Given the description of an element on the screen output the (x, y) to click on. 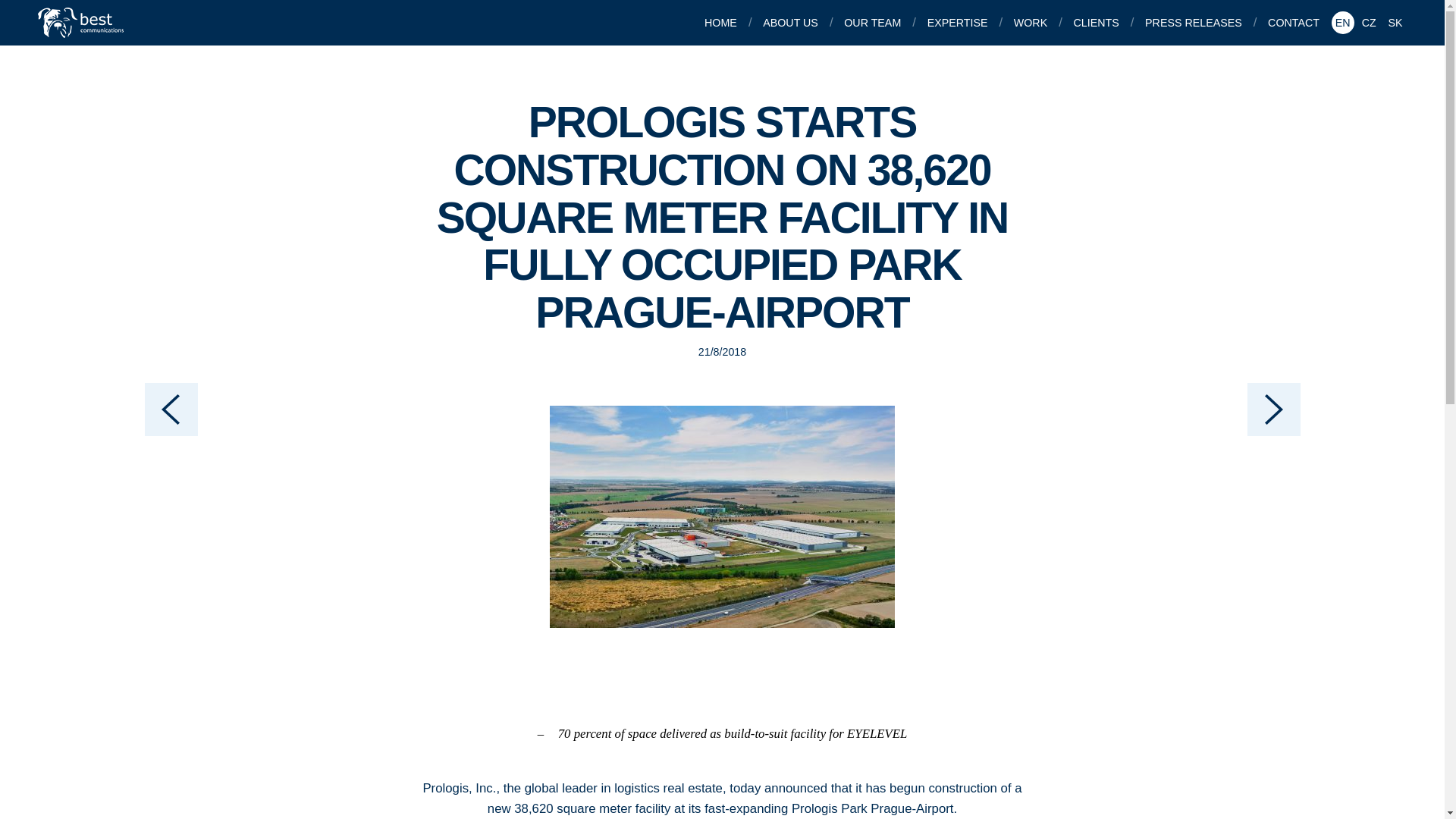
PRESS RELEASES (1195, 22)
CZ (1368, 22)
CLIENTS (1098, 22)
ABOUT US (792, 22)
EN (1343, 22)
HOME (722, 22)
SK (1395, 22)
EXPERTISE (959, 22)
Best Communications (82, 22)
WORK (1032, 22)
